Given the description of an element on the screen output the (x, y) to click on. 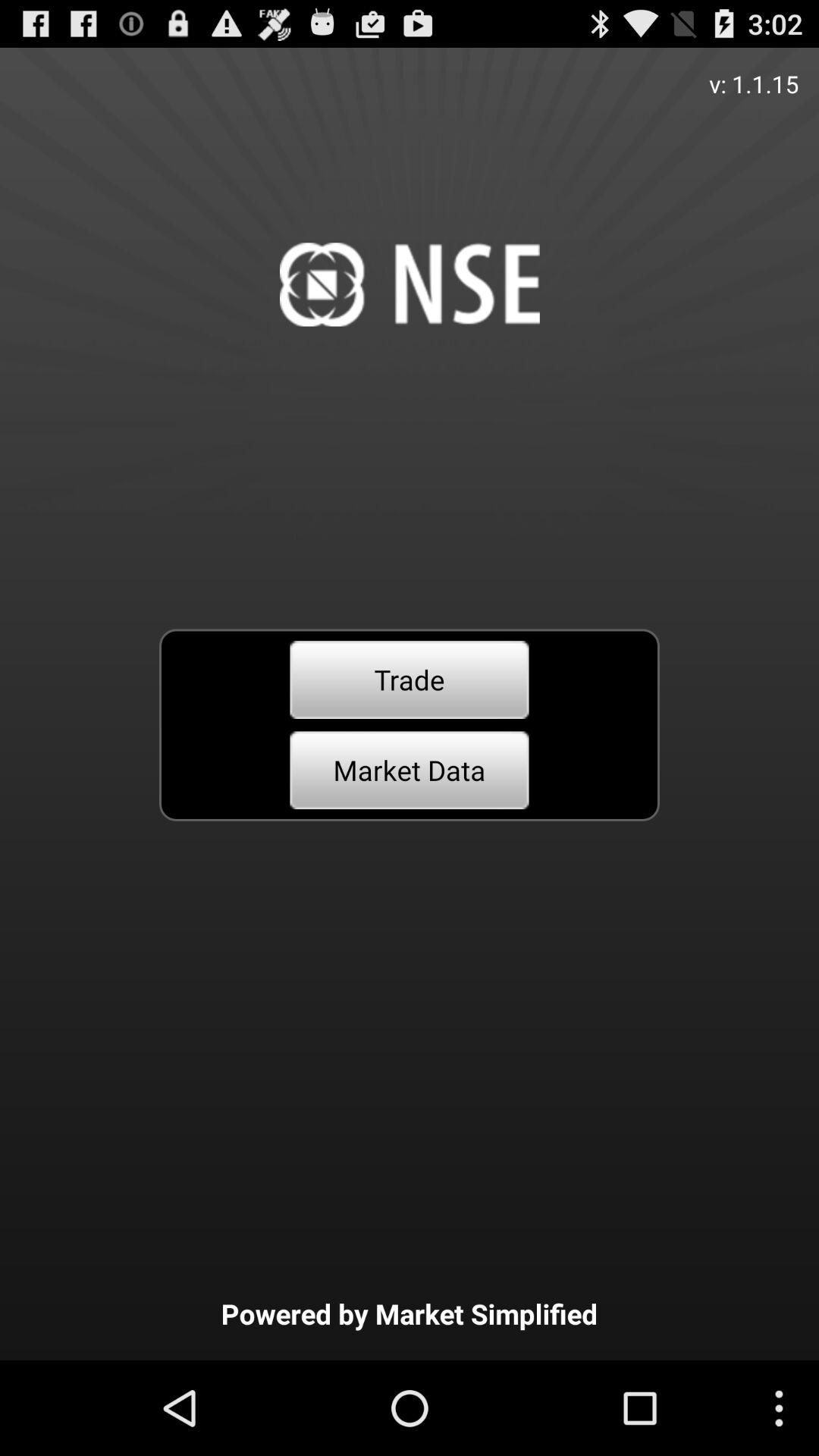
turn off the market data (409, 770)
